Given the description of an element on the screen output the (x, y) to click on. 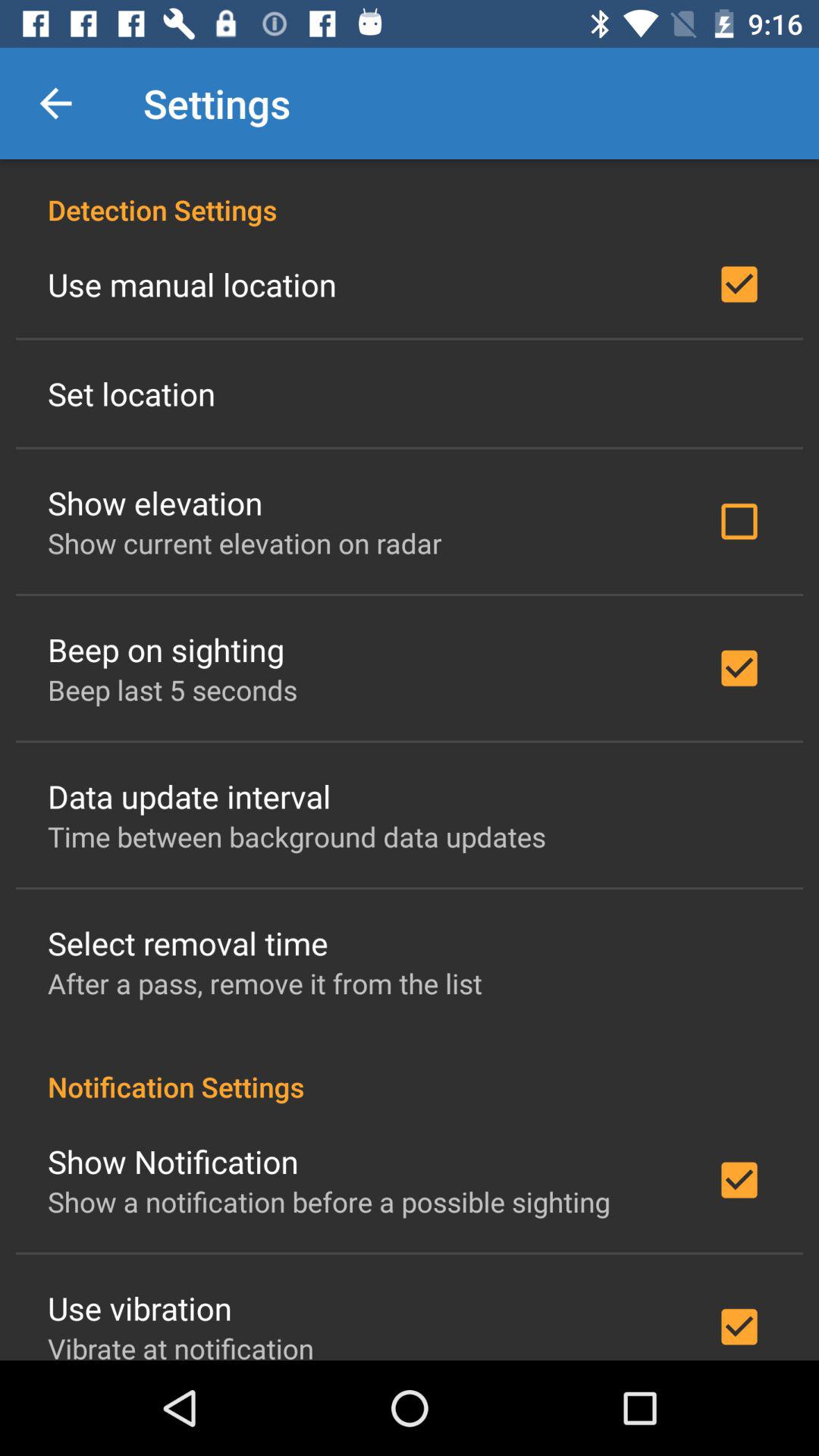
open item above beep last 5 item (165, 649)
